Given the description of an element on the screen output the (x, y) to click on. 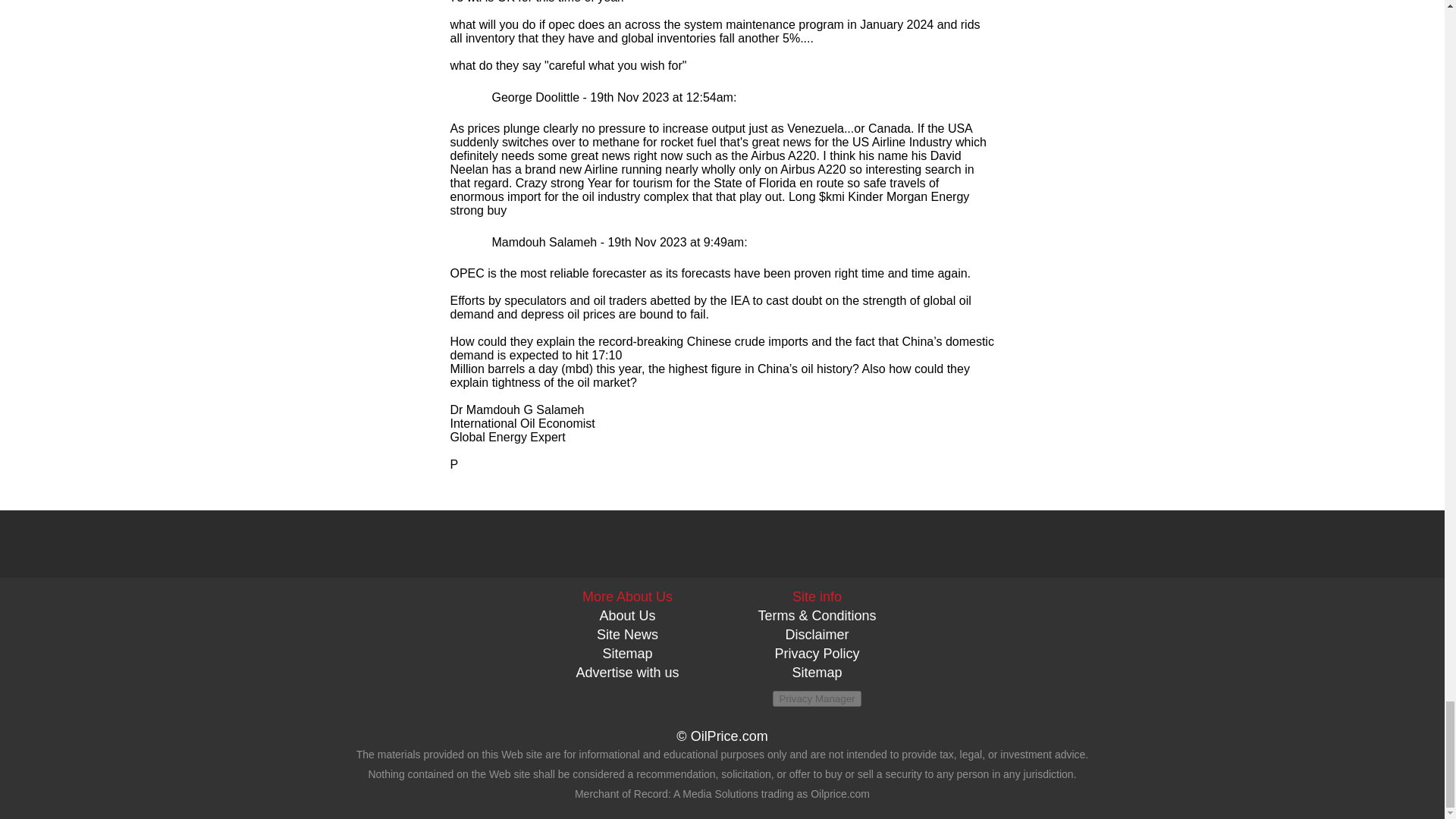
More About Us (627, 596)
Site News (627, 634)
About Us (626, 615)
